Given the description of an element on the screen output the (x, y) to click on. 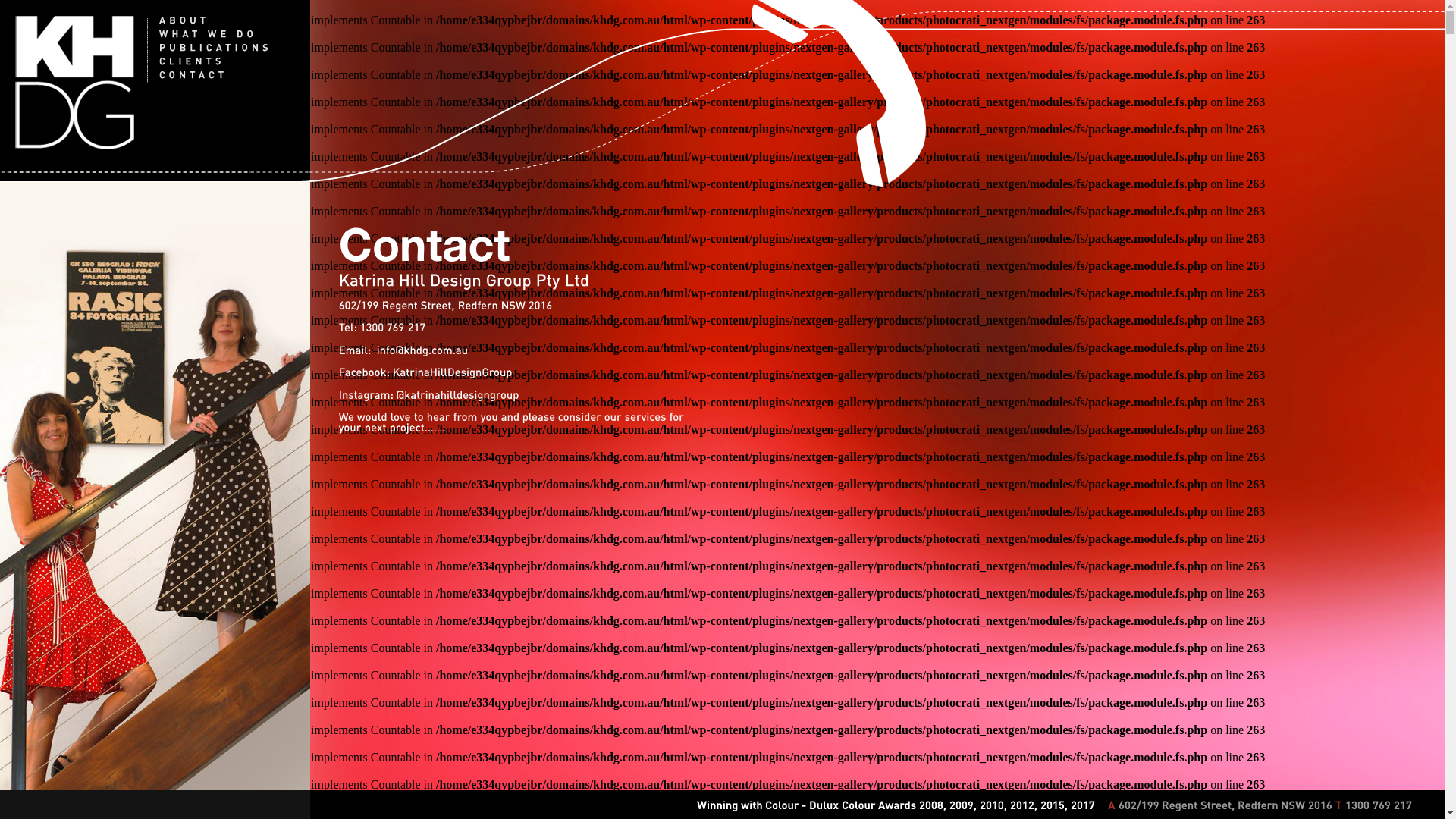
KHDG Element type: text (74, 82)
